Given the description of an element on the screen output the (x, y) to click on. 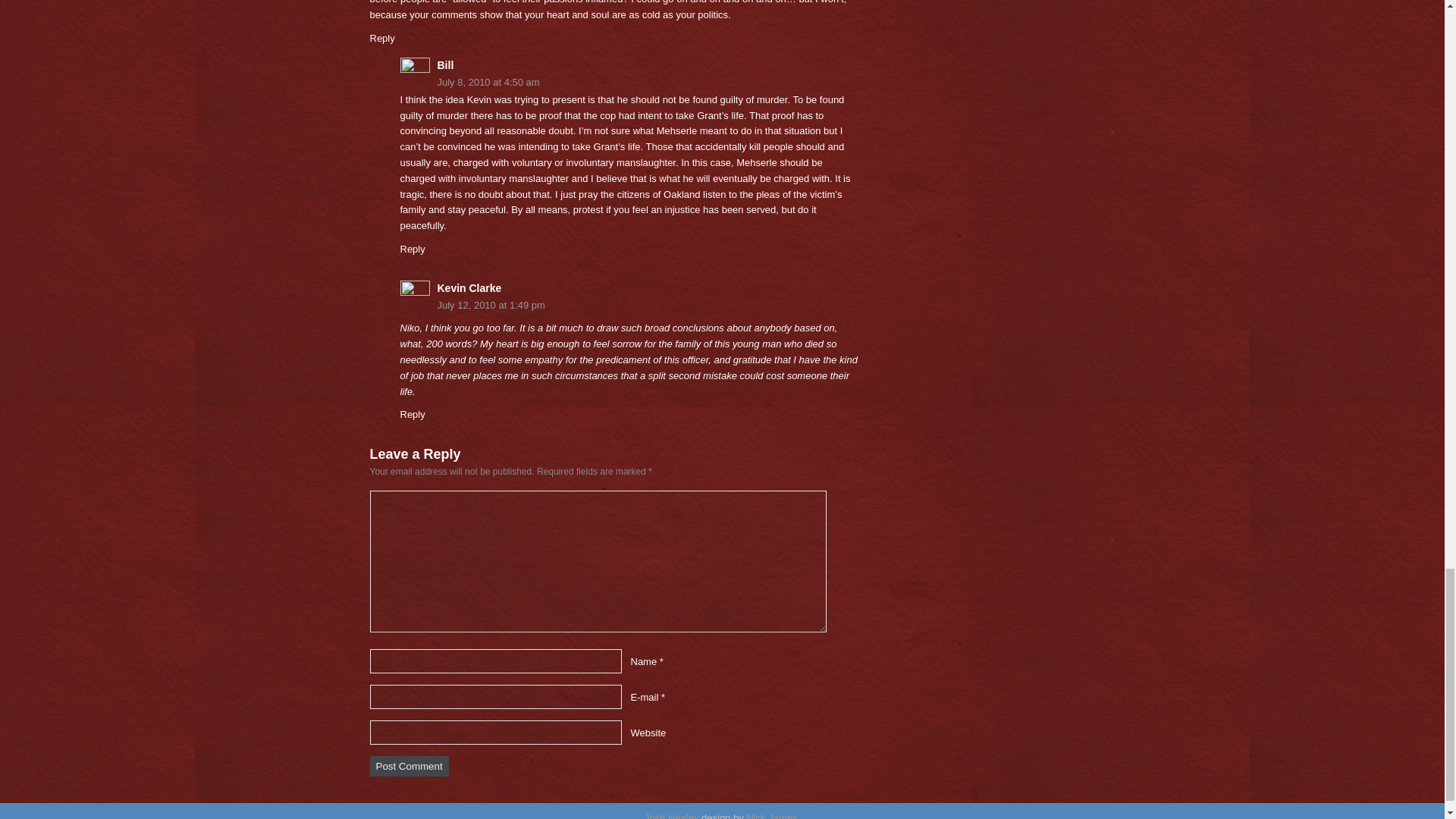
Post Comment (408, 765)
July 8, 2010 at 4:50 am (629, 82)
Reply (412, 414)
Statcounter (25, 809)
Reply (412, 248)
July 12, 2010 at 1:49 pm (629, 305)
Post Comment (408, 765)
Reply (381, 38)
